Given the description of an element on the screen output the (x, y) to click on. 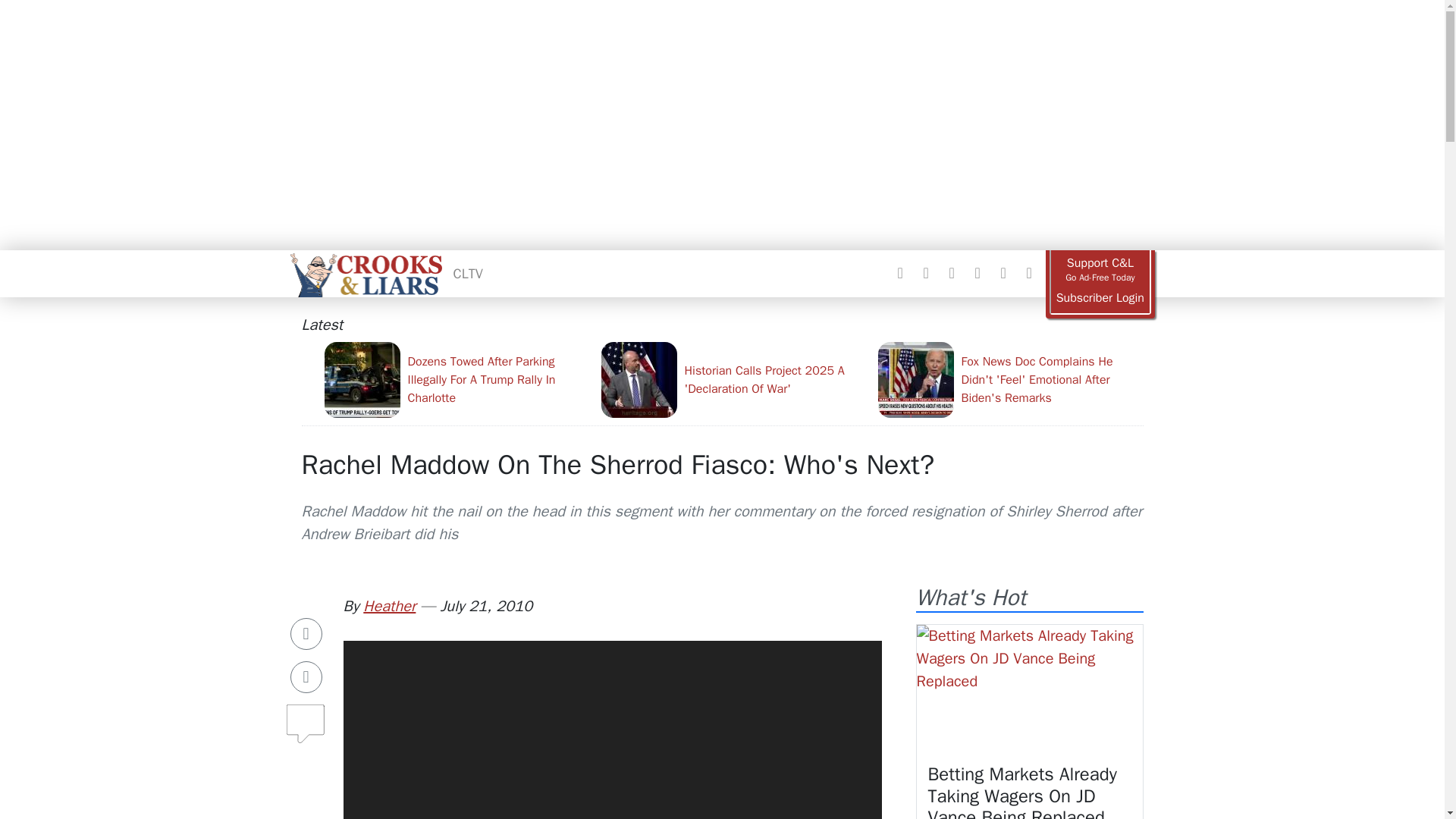
Share on Facebook (306, 634)
Rachel Maddow On The Sherrod Fiasco: Who's Next? (617, 464)
Login to your ad free account (1099, 298)
Historian Calls Project 2025 A 'Declaration Of War' (732, 379)
Heather (388, 606)
CLTV (467, 273)
Share on Twitter (306, 676)
Heather (388, 606)
Historian Calls Project 2025 A 'Declaration Of War' (732, 379)
Go ad free today! (1099, 270)
Comments (306, 717)
